Given the description of an element on the screen output the (x, y) to click on. 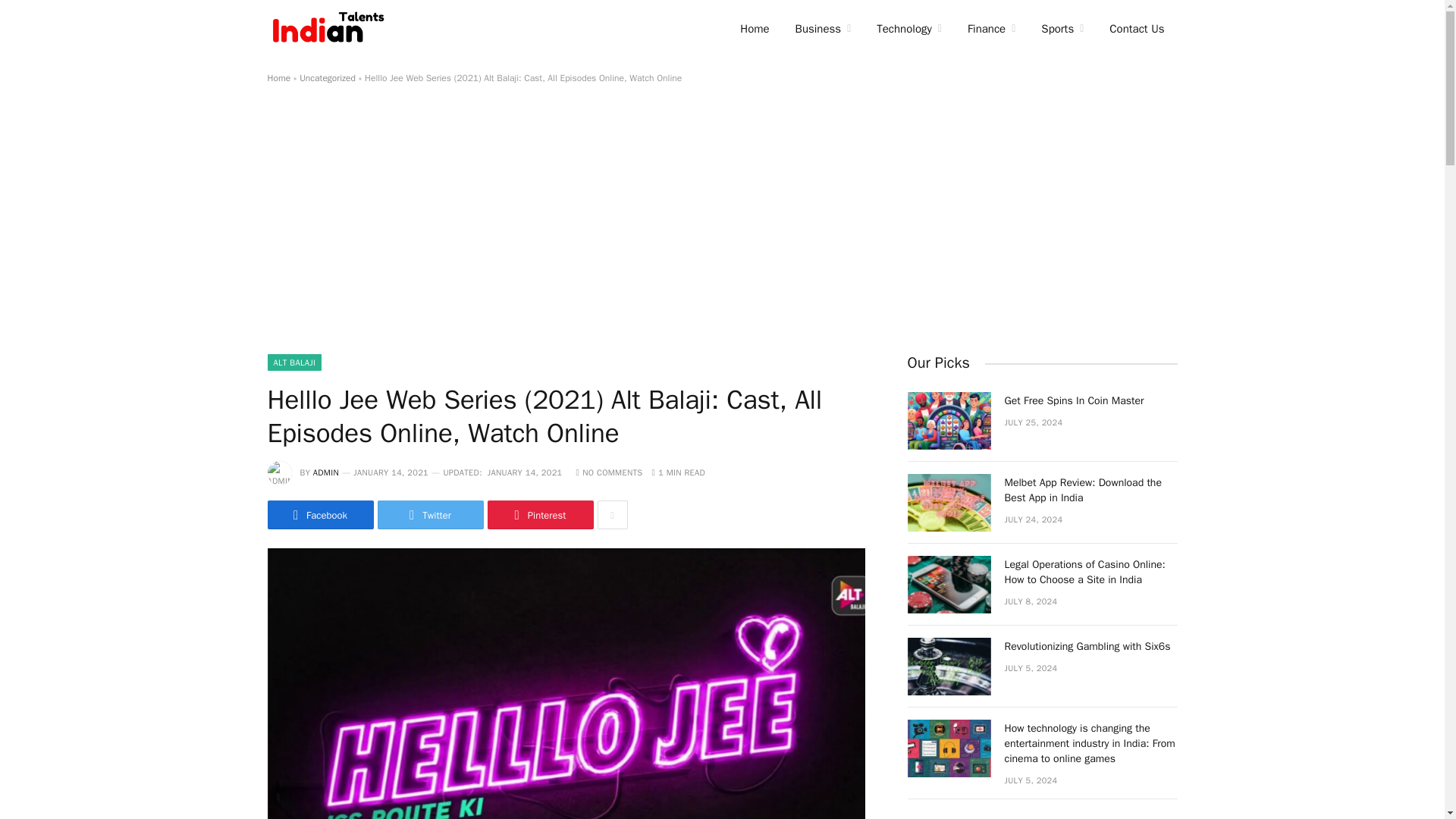
Finance (991, 28)
Business (823, 28)
Technology (909, 28)
Indian Talents (330, 28)
Home (753, 28)
